Given the description of an element on the screen output the (x, y) to click on. 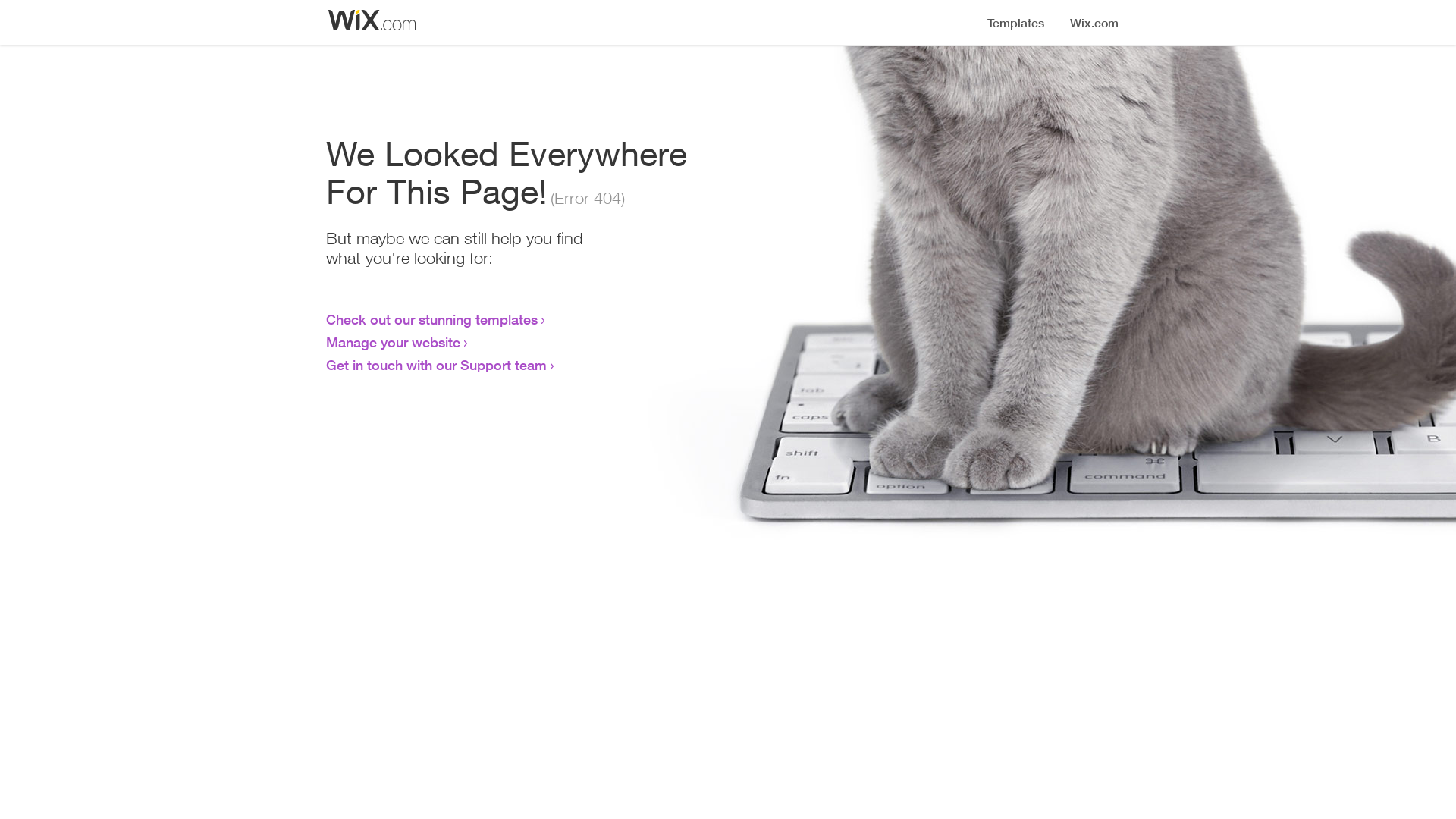
Check out our stunning templates Element type: text (431, 318)
Manage your website Element type: text (393, 341)
Get in touch with our Support team Element type: text (436, 364)
